Given the description of an element on the screen output the (x, y) to click on. 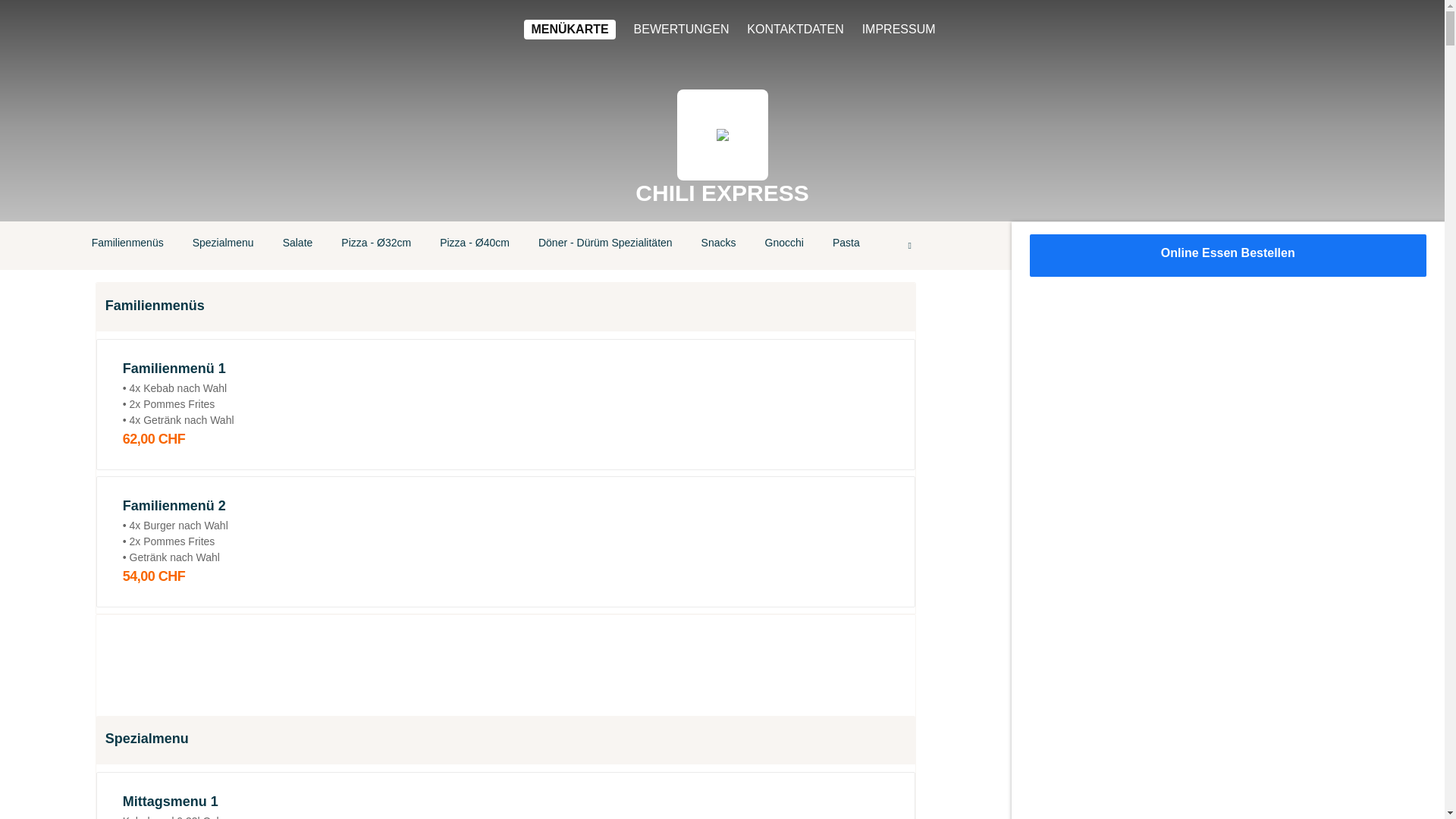
Gnocchi Element type: text (784, 245)
Salate Element type: text (297, 245)
Snacks Element type: text (718, 245)
Spezialmenu Element type: text (223, 245)
Desserts Element type: text (909, 245)
BEWERTUNGEN Element type: text (681, 29)
KONTAKTDATEN Element type: text (794, 29)
Pasta Element type: text (846, 245)
IMPRESSUM Element type: text (898, 29)
Online Essen Bestellen Element type: text (1228, 255)
